Given the description of an element on the screen output the (x, y) to click on. 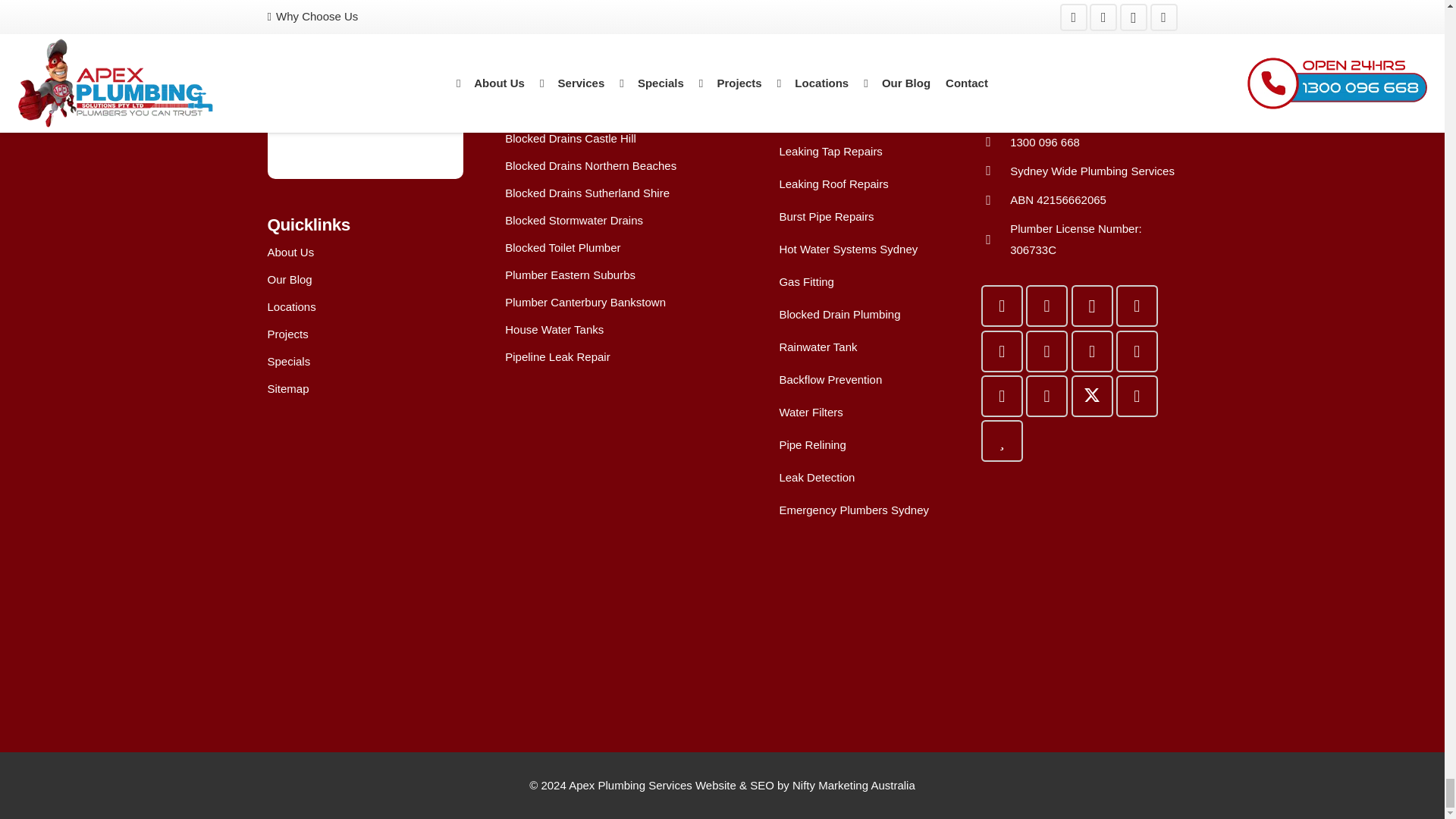
Instagram (1091, 305)
Leaking Roof Repairs (760, 184)
Facebook (1002, 305)
Google (1136, 305)
Leaking Roof Repairs (833, 183)
YouTube (1046, 305)
